Given the description of an element on the screen output the (x, y) to click on. 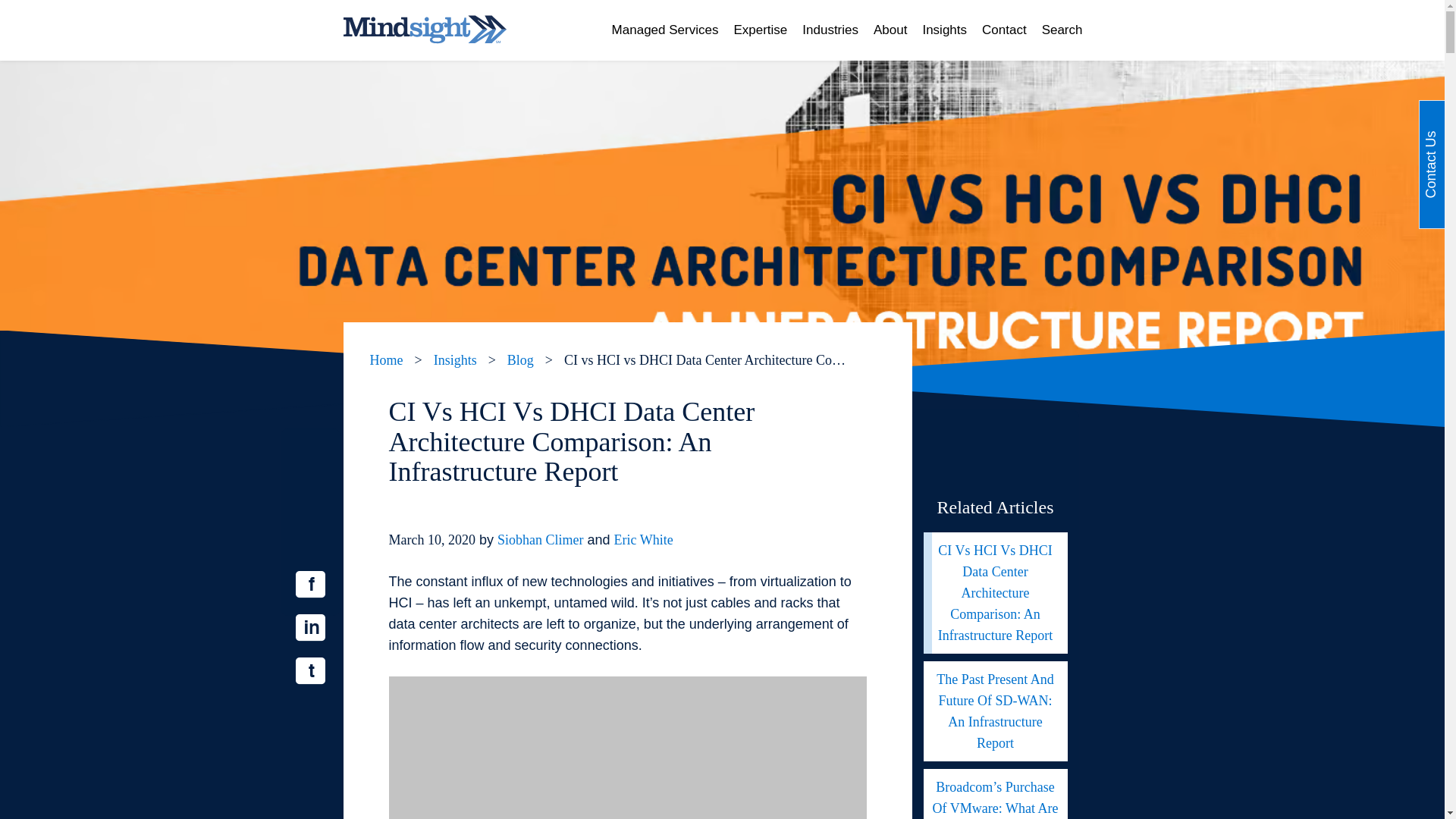
Managed Services (665, 30)
Industries (830, 30)
Home (386, 359)
Expertise (759, 30)
